Given the description of an element on the screen output the (x, y) to click on. 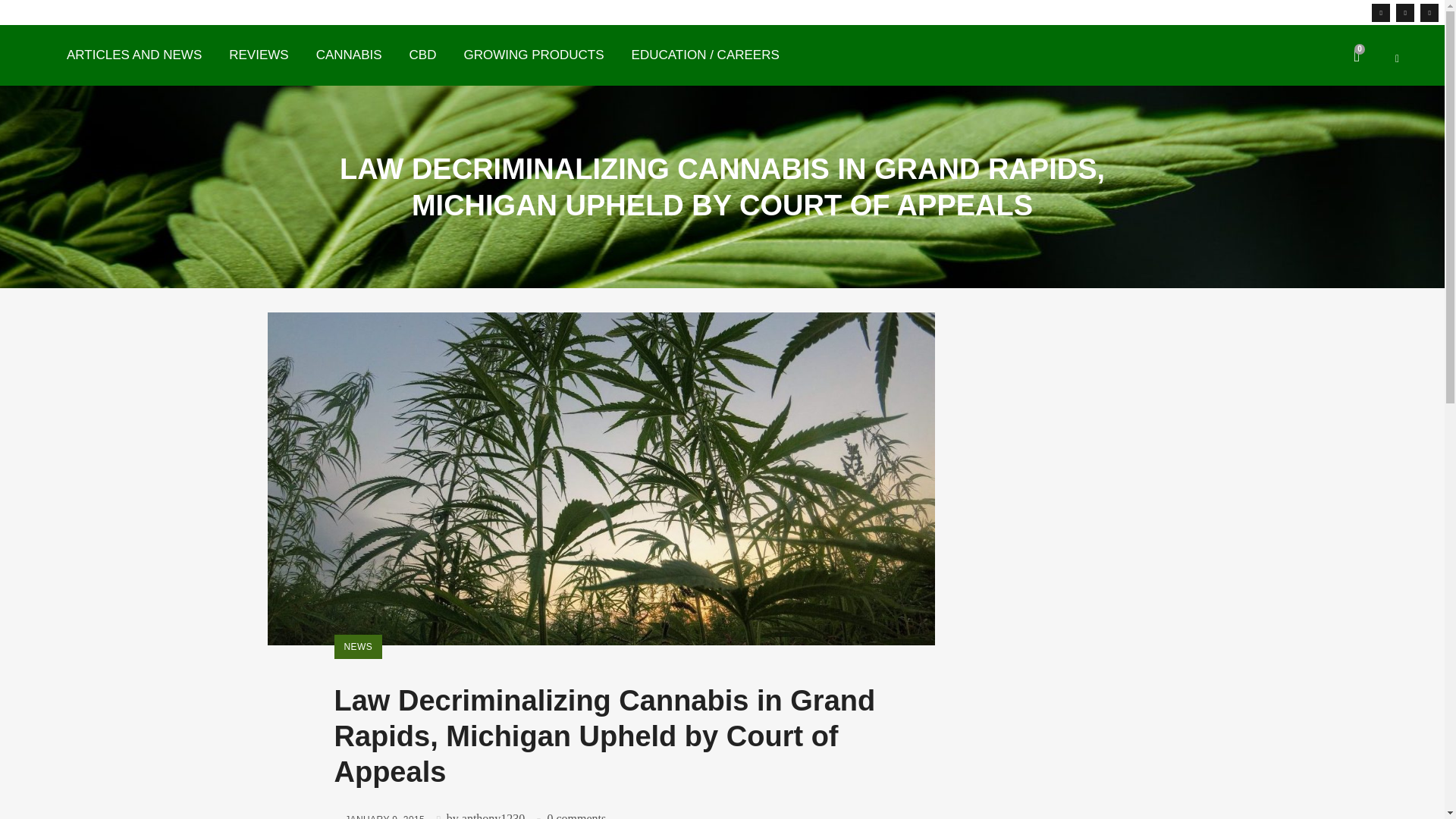
JANUARY 9, 2015 (379, 816)
ARTICLES AND NEWS (133, 55)
NEWS (357, 646)
anthony1230 (493, 815)
GROWING PRODUCTS (533, 55)
CBD (422, 55)
REVIEWS (258, 55)
0 comments (576, 815)
CANNABIS (349, 55)
